Given the description of an element on the screen output the (x, y) to click on. 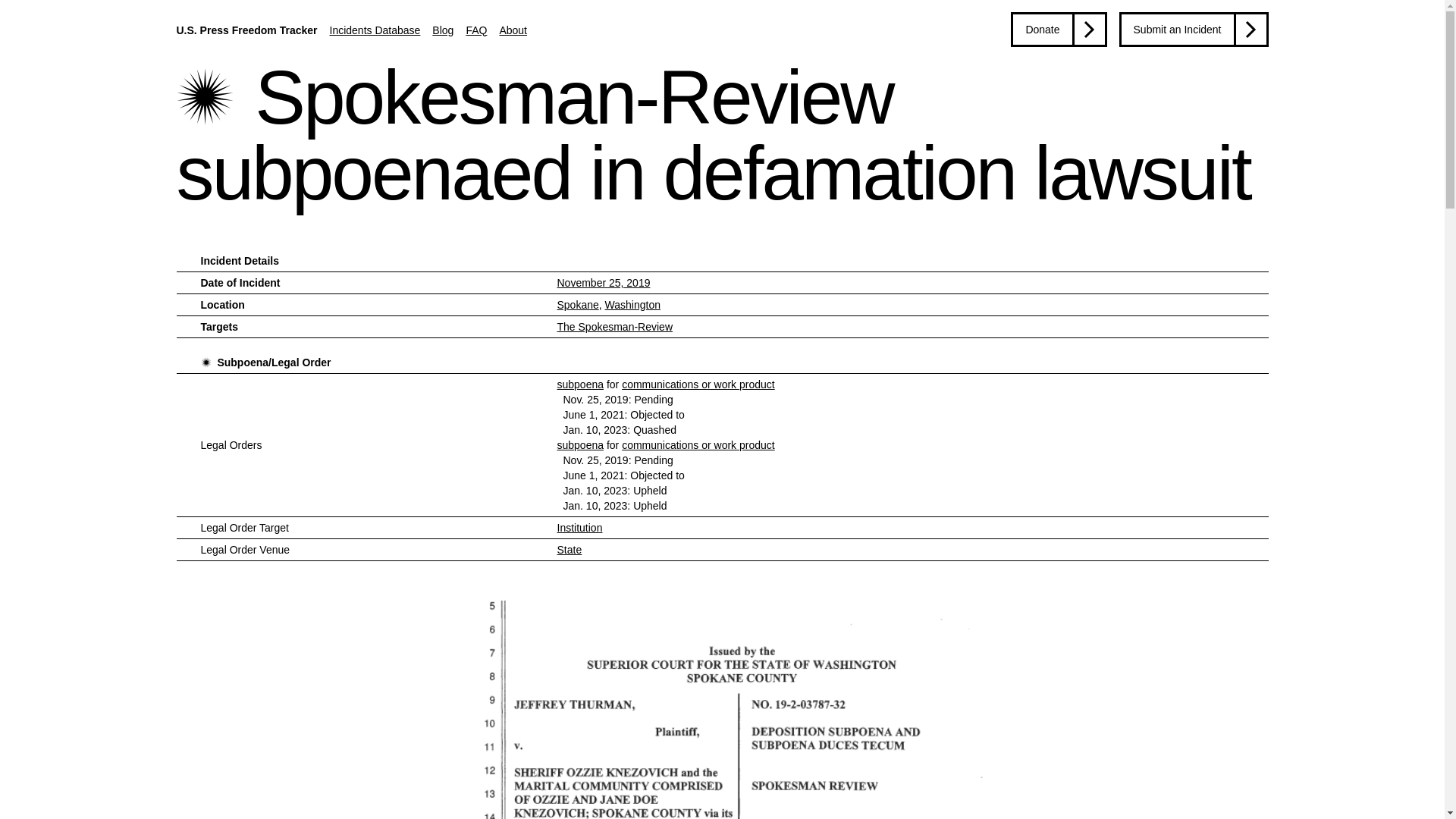
subpoena (580, 444)
Blog (442, 30)
State (568, 549)
subpoena (580, 384)
Donate (1058, 29)
Washington (633, 304)
About (513, 30)
Submit an Incident (1193, 29)
November 25, 2019 (602, 282)
Spokane (577, 304)
The Spokesman-Review (614, 326)
communications or work product (697, 384)
Incidents Database (374, 30)
U.S. Press Freedom Tracker (246, 30)
Institution (579, 527)
